Given the description of an element on the screen output the (x, y) to click on. 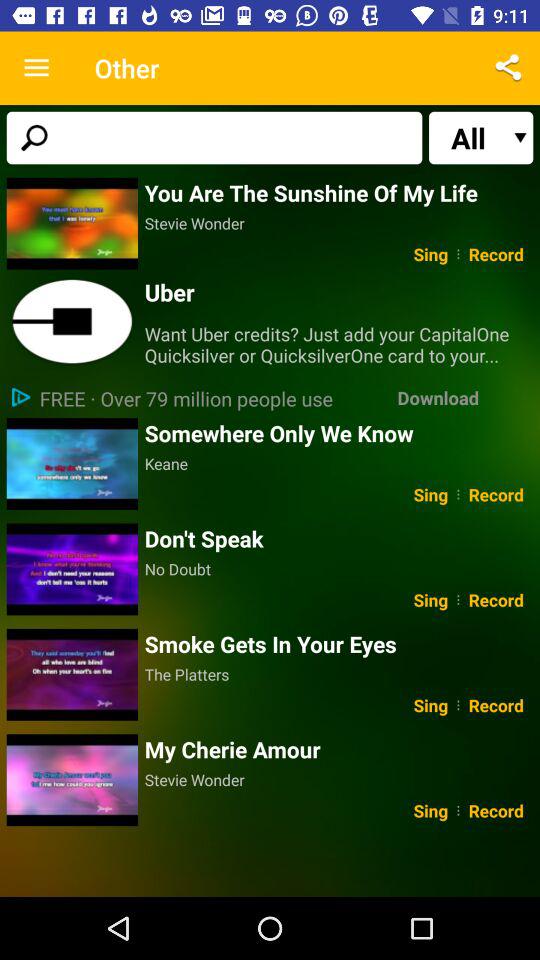
swipe to the the platters  item (338, 674)
